Given the description of an element on the screen output the (x, y) to click on. 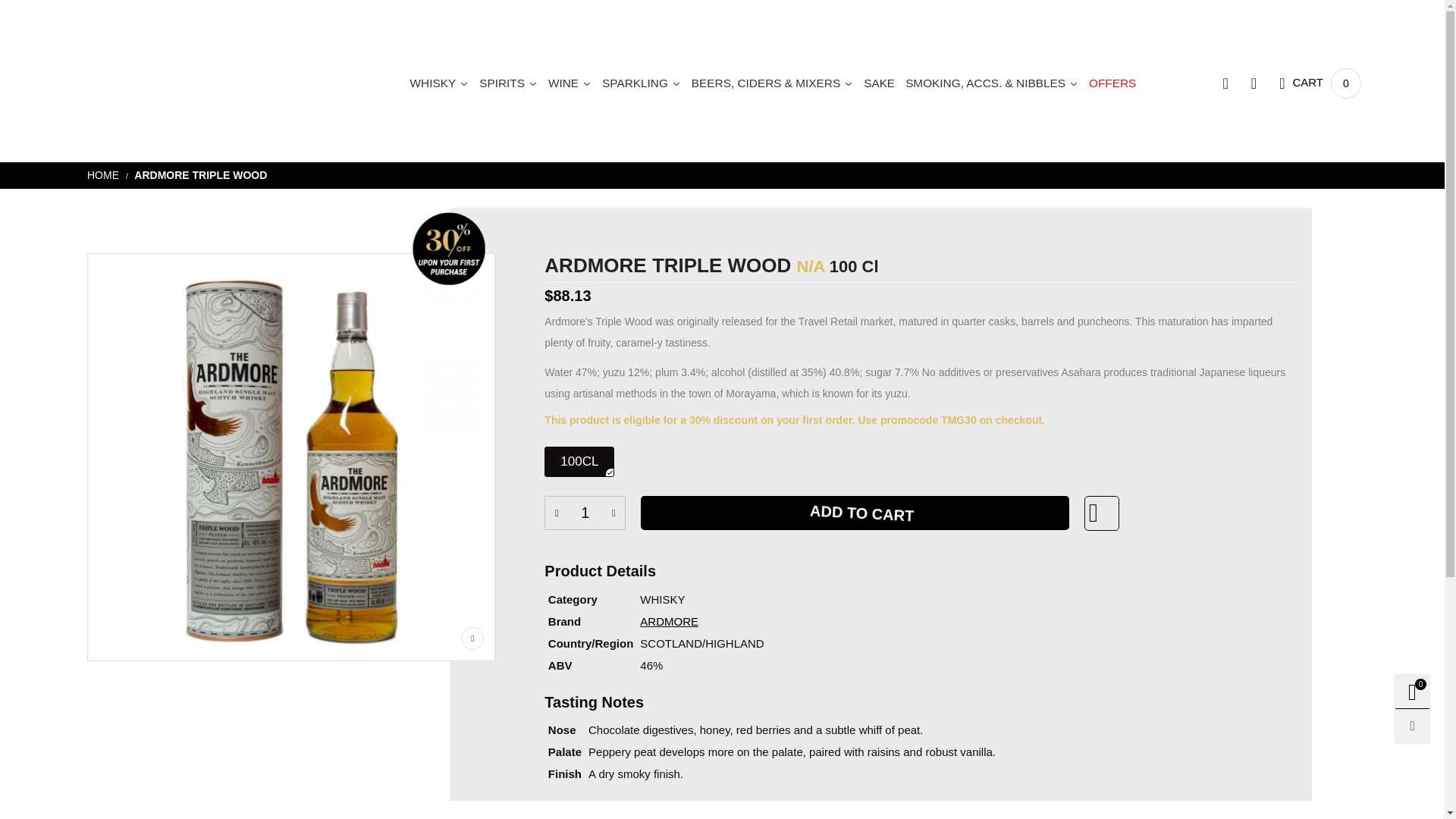
SPIRITS (508, 83)
Sign In (1209, 315)
SPARKLING (640, 83)
SAKE (1320, 82)
SPARKLING (879, 83)
WINE (640, 83)
1 (569, 83)
SPIRITS (584, 512)
WINE (508, 83)
